Given the description of an element on the screen output the (x, y) to click on. 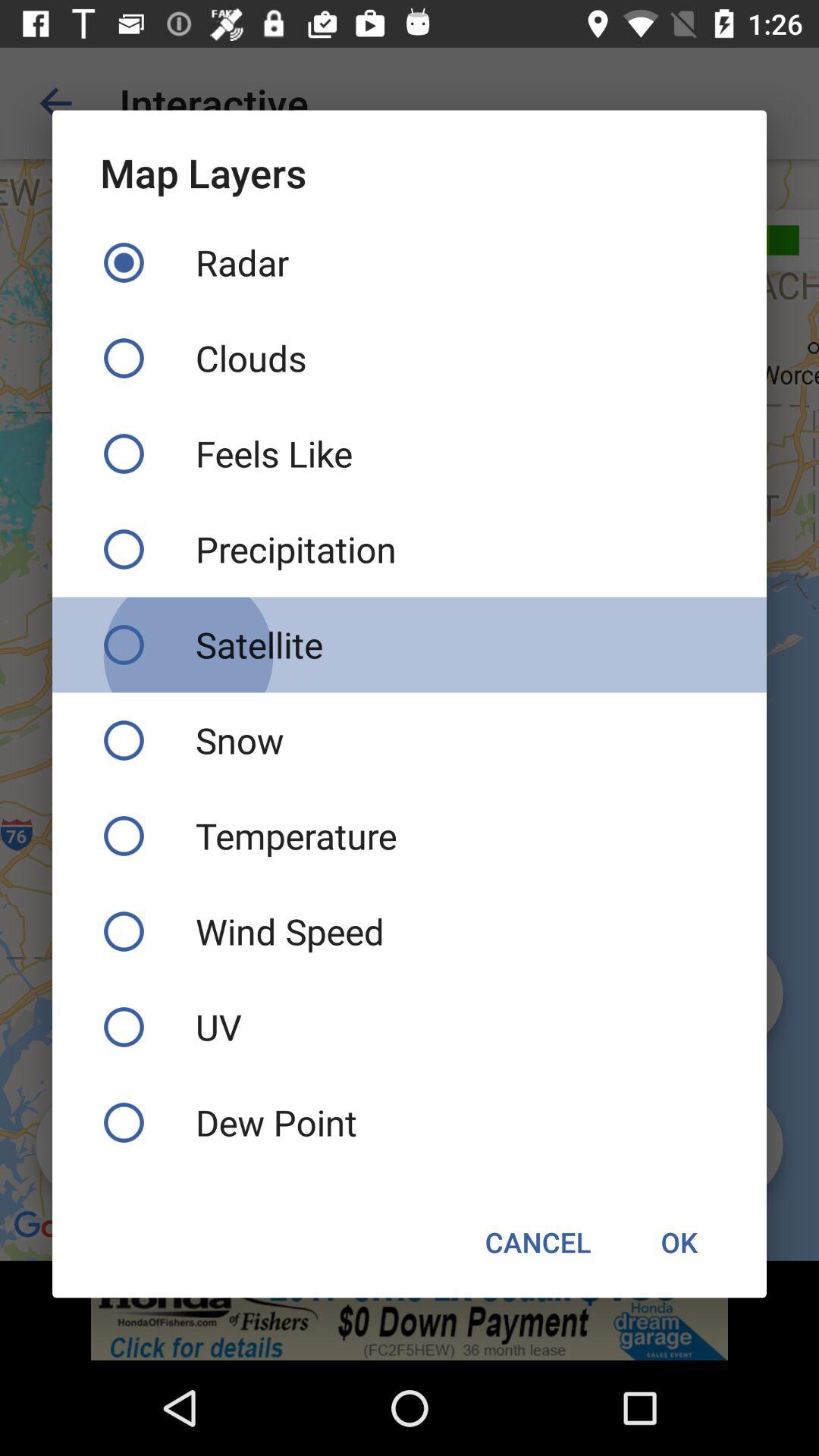
choose item to the left of ok icon (538, 1241)
